Given the description of an element on the screen output the (x, y) to click on. 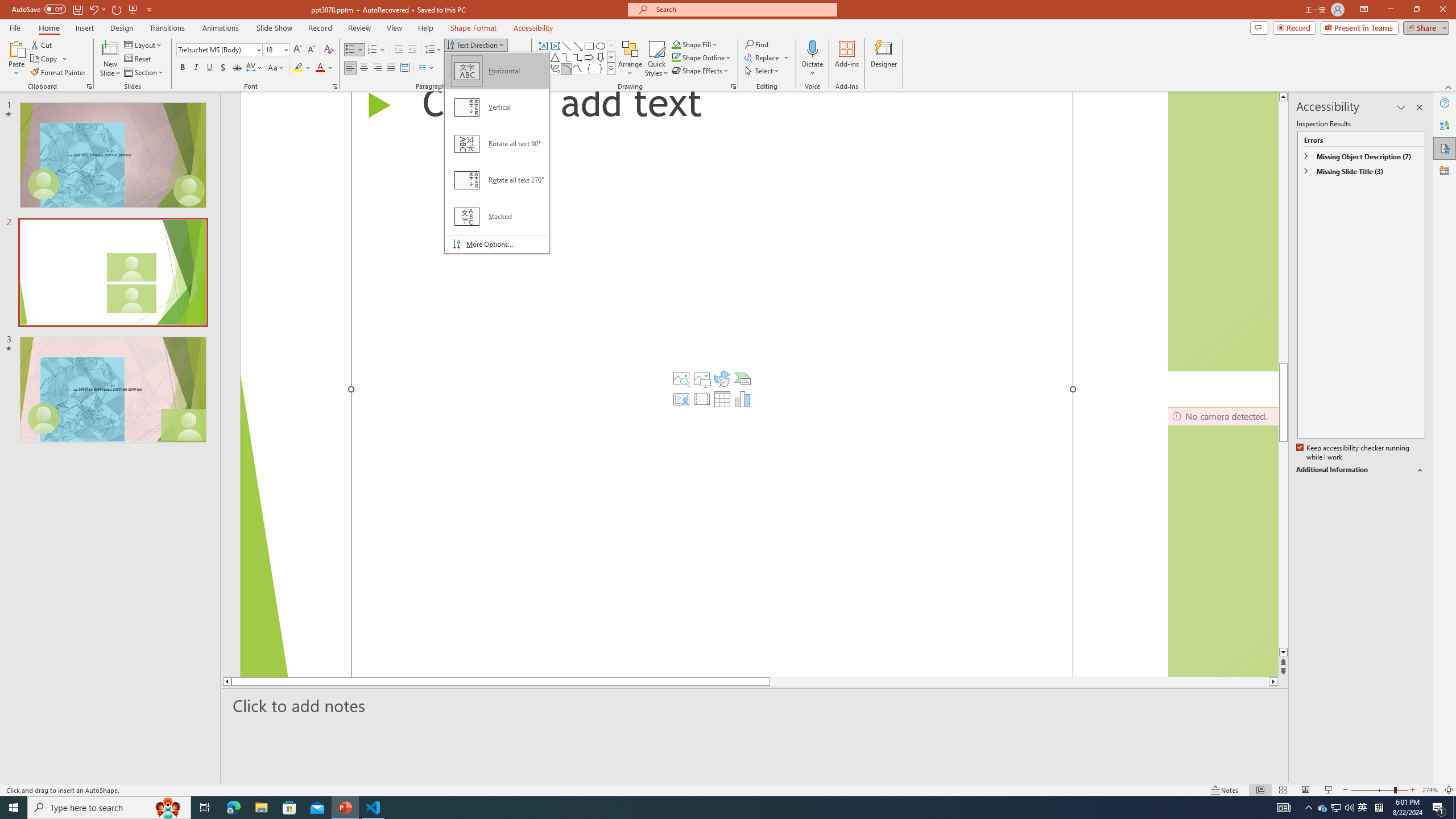
Running applications (700, 807)
Action Center, 1 new notification (1439, 807)
